Given the description of an element on the screen output the (x, y) to click on. 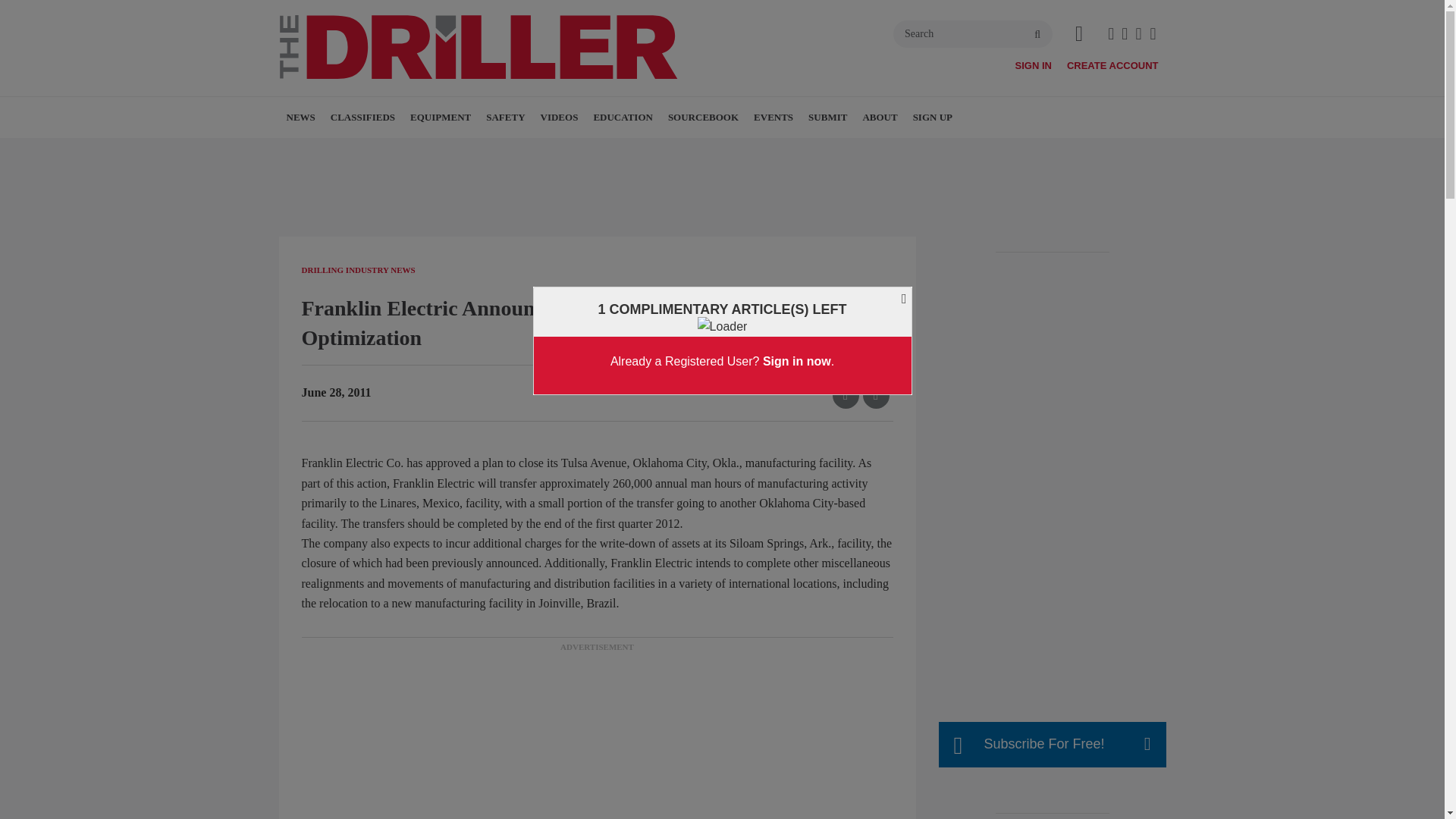
CLASSIFIEDS (363, 117)
Search (972, 33)
SOURCEBOOK (703, 117)
ALL INDUSTRY NEWS (400, 150)
search (1037, 34)
GEOTHERMAL (380, 150)
NEWS (301, 117)
EVENTS (772, 117)
FEATURED PRODUCTS (516, 150)
WATER (373, 150)
CREATE ACCOUNT (1112, 65)
NEWSCAST (627, 150)
MINING (397, 150)
SIGN IN (1032, 65)
VIDEOS (559, 117)
